Given the description of an element on the screen output the (x, y) to click on. 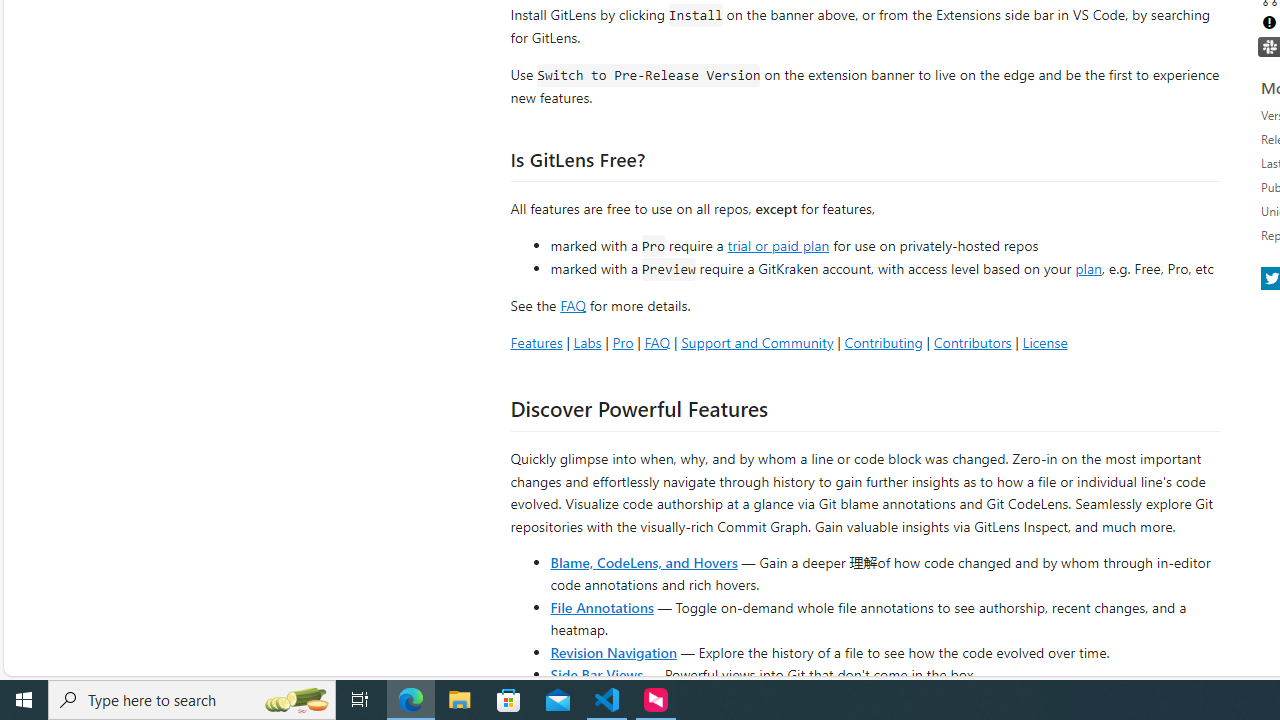
Contributors (972, 341)
Pro (622, 341)
FAQ (656, 341)
Labs (587, 341)
License (1044, 341)
trial or paid plan (778, 244)
Features (536, 341)
Blame, CodeLens, and Hovers (644, 561)
Support and Community (757, 341)
plan (1088, 269)
Side Bar Views (596, 673)
Revision Navigation (613, 651)
